Given the description of an element on the screen output the (x, y) to click on. 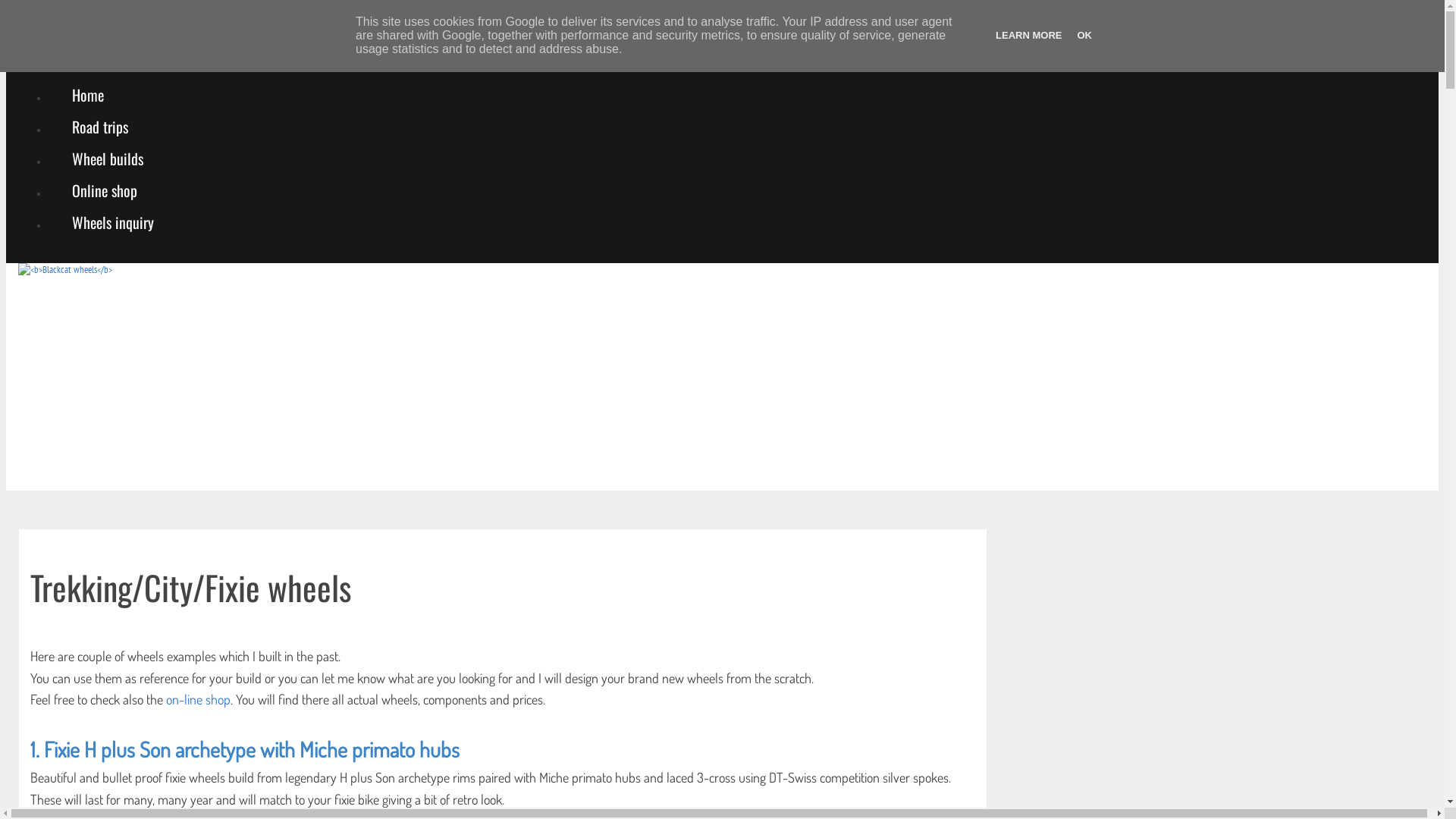
on-line shop Element type: text (198, 698)
Wheel builds Element type: text (107, 158)
OK Element type: text (1084, 34)
Online shop Element type: text (104, 190)
Home Element type: text (87, 94)
LEARN MORE Element type: text (1028, 34)
Road trips Element type: text (99, 126)
Wheels inquiry Element type: text (112, 222)
